Given the description of an element on the screen output the (x, y) to click on. 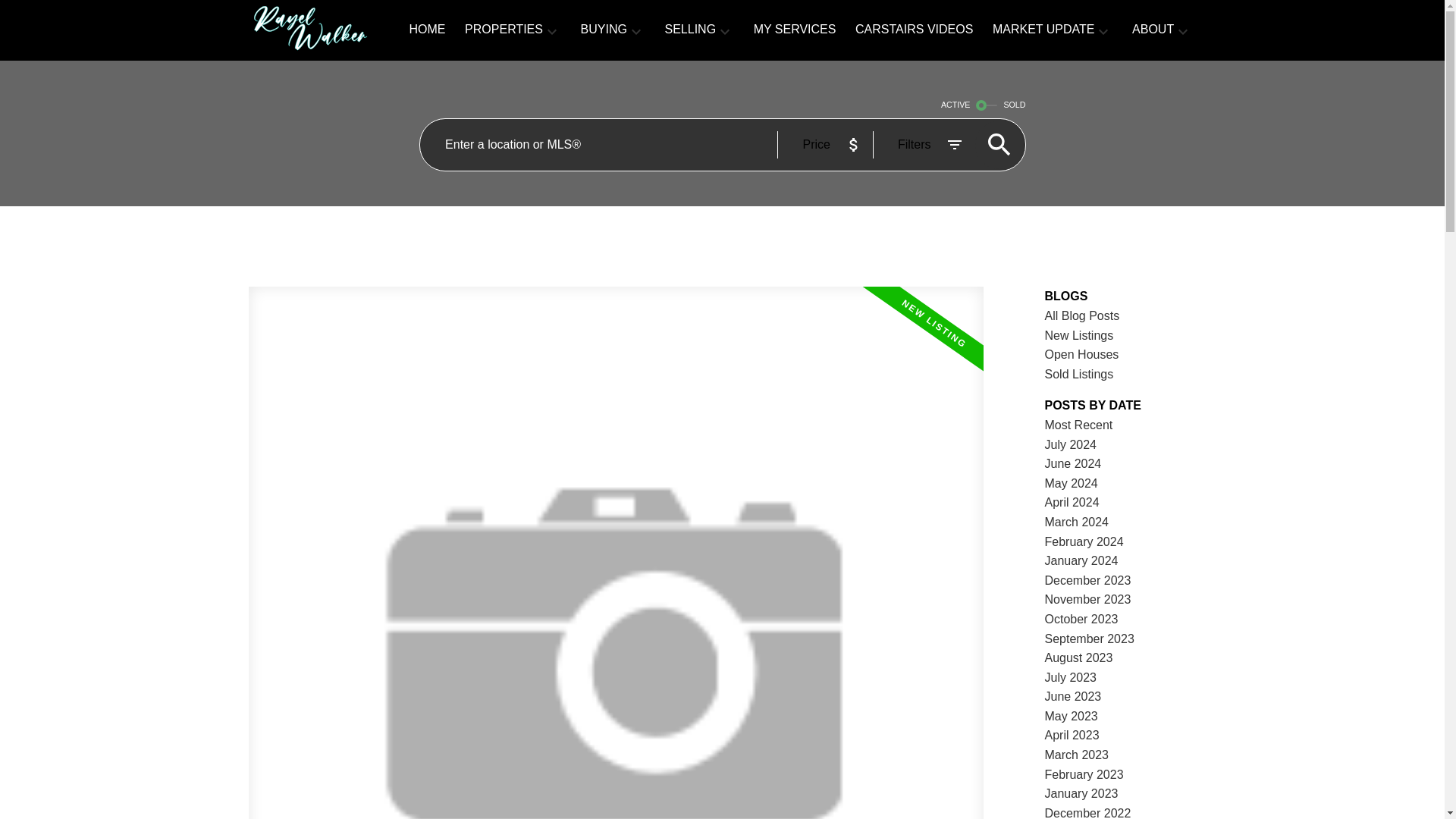
CARSTAIRS VIDEOS (914, 30)
MARKET UPDATE (1043, 30)
PROPERTIES (503, 30)
HOME (427, 30)
New Listings (1079, 335)
All Blog Posts (1082, 315)
July 2024 (1071, 444)
ABOUT (1152, 30)
June 2024 (1073, 463)
Sold Listings (1079, 373)
Open Houses (1082, 354)
SELLING (689, 30)
MY SERVICES (794, 30)
Most Recent (1079, 424)
BUYING (603, 30)
